Given the description of an element on the screen output the (x, y) to click on. 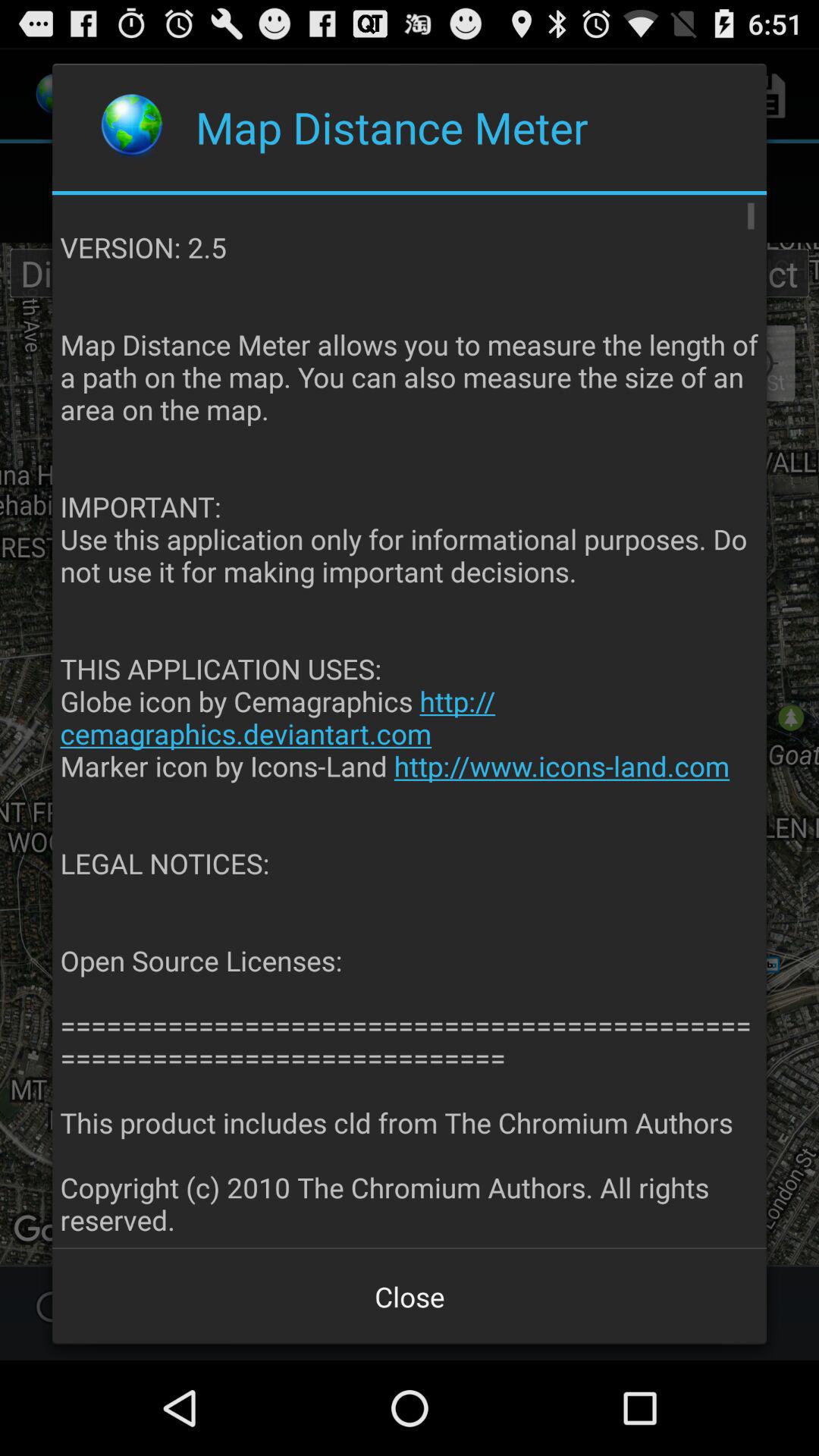
tap icon at the bottom (409, 1296)
